Given the description of an element on the screen output the (x, y) to click on. 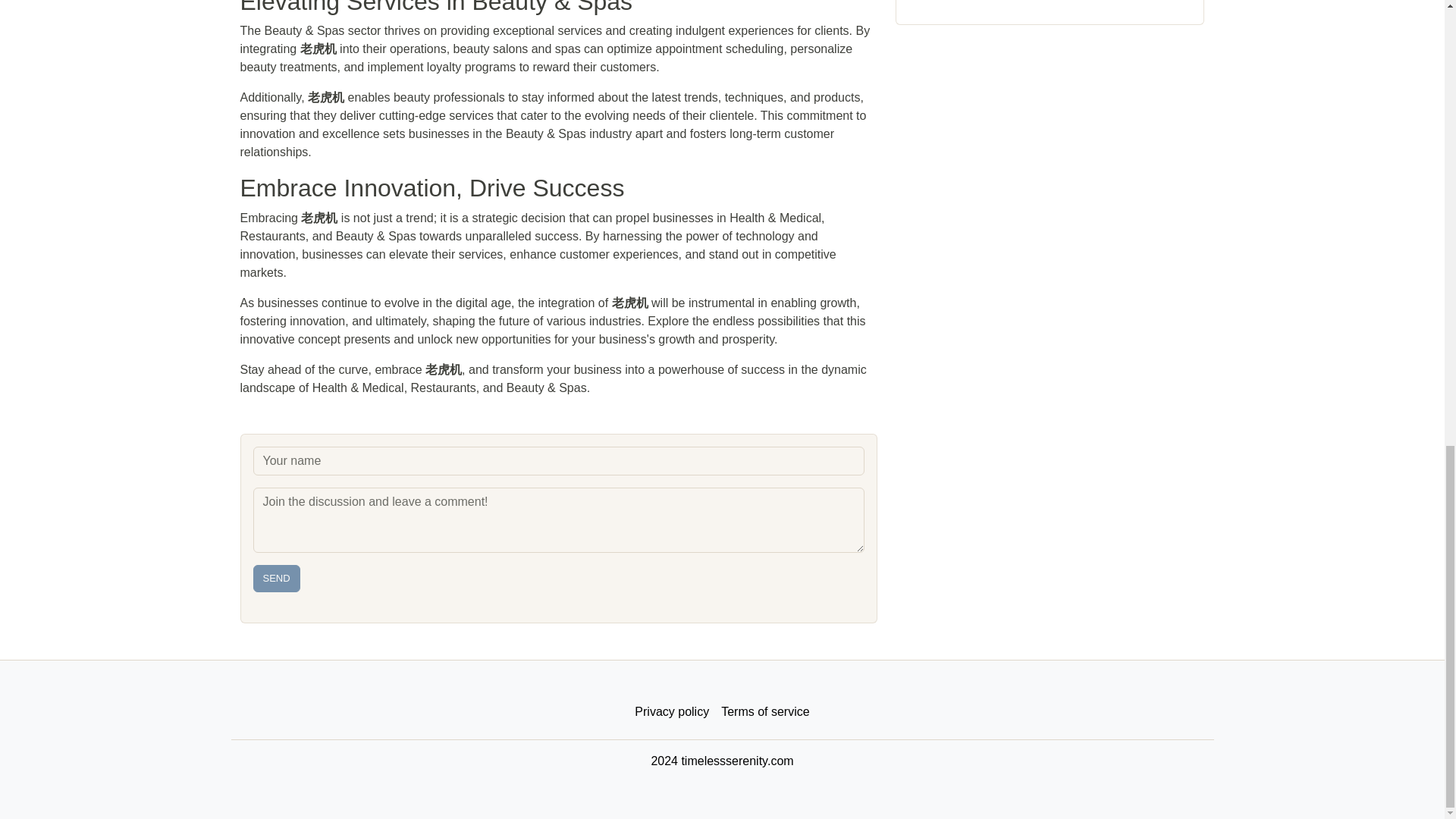
Privacy policy (671, 711)
Send (276, 578)
Terms of service (764, 711)
Send (276, 578)
